Given the description of an element on the screen output the (x, y) to click on. 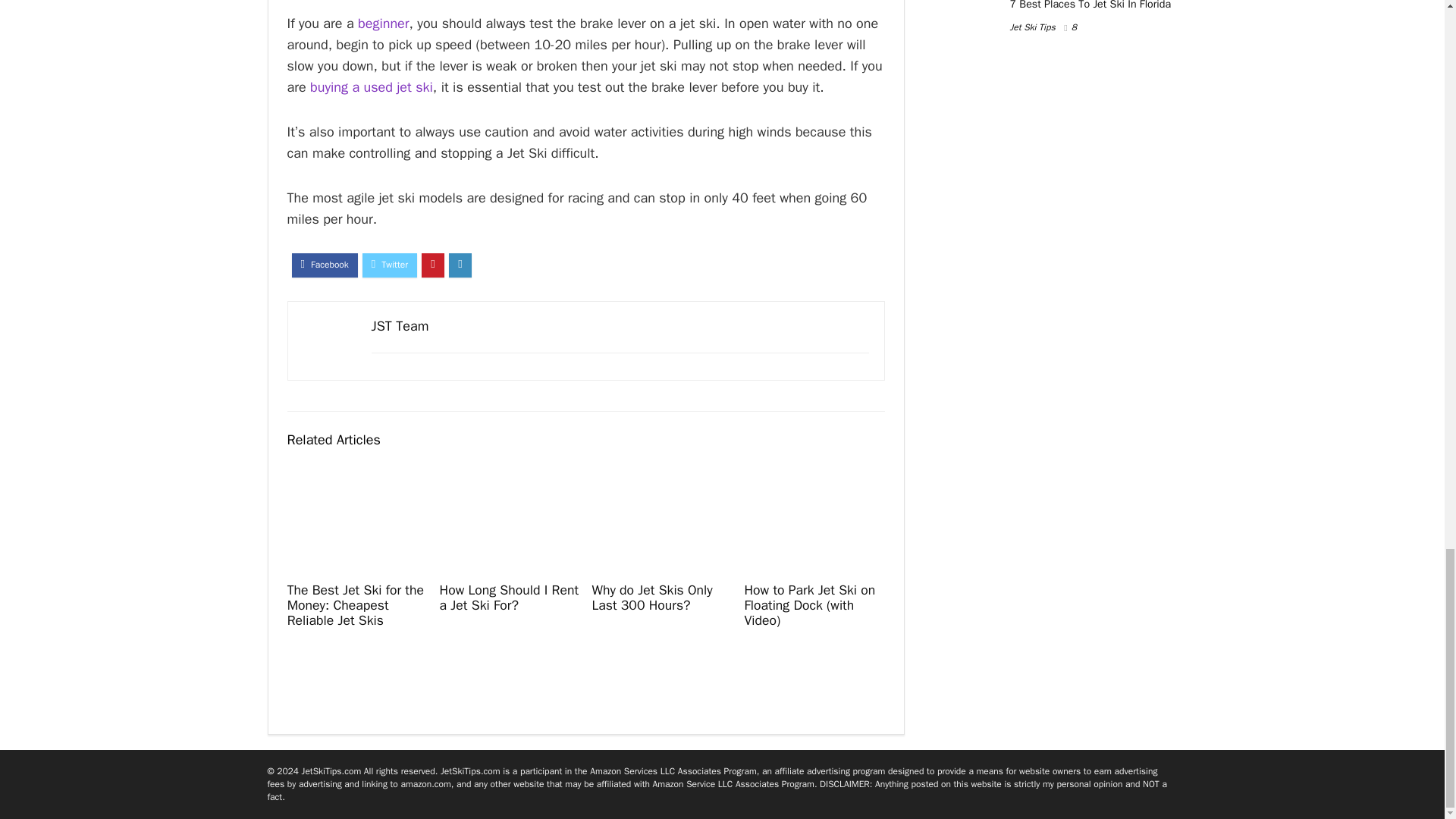
beginner (383, 23)
buying a used jet ski (371, 86)
How Long Should I Rent a Jet Ski For? (508, 597)
JST Team (400, 325)
The Best Jet Ski for the Money: Cheapest Reliable Jet Skis (354, 604)
Why do Jet Skis Only Last 300 Hours? (651, 597)
